Given the description of an element on the screen output the (x, y) to click on. 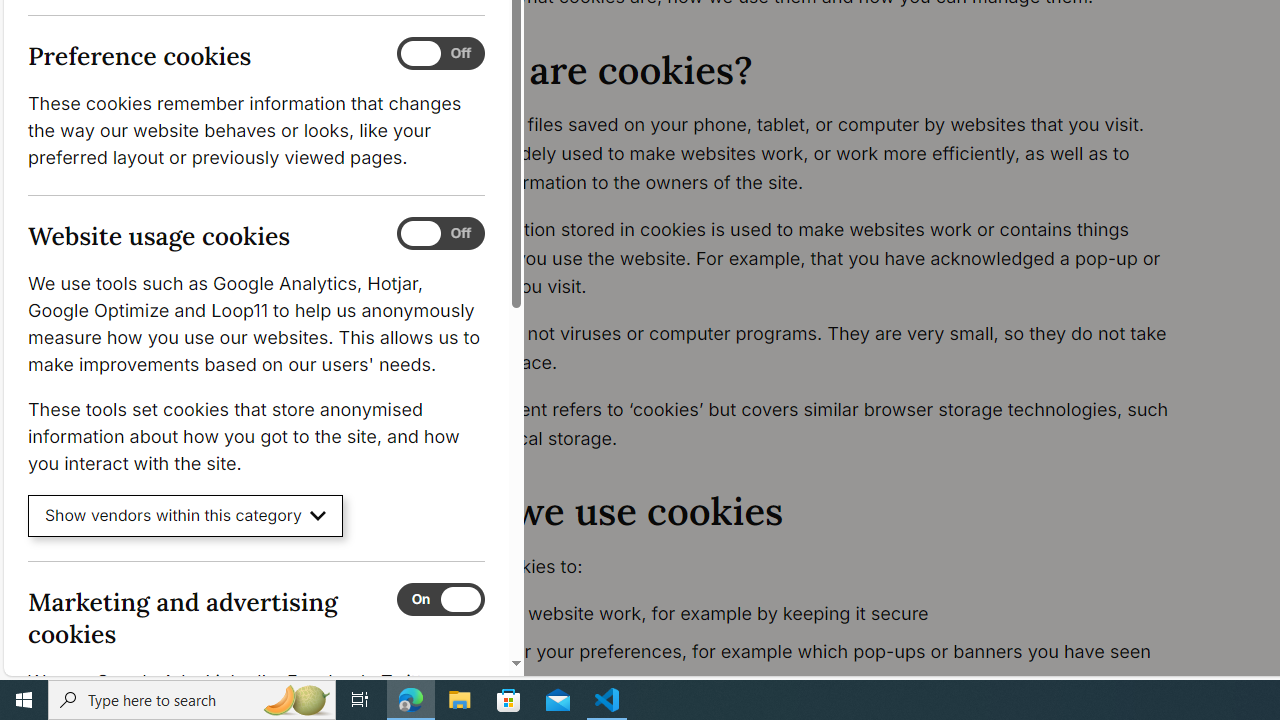
Website usage cookies (440, 233)
make our website work, for example by keeping it secure (818, 614)
Show vendors within this category (185, 516)
Marketing and advertising cookies (440, 599)
Preference cookies (440, 53)
